Given the description of an element on the screen output the (x, y) to click on. 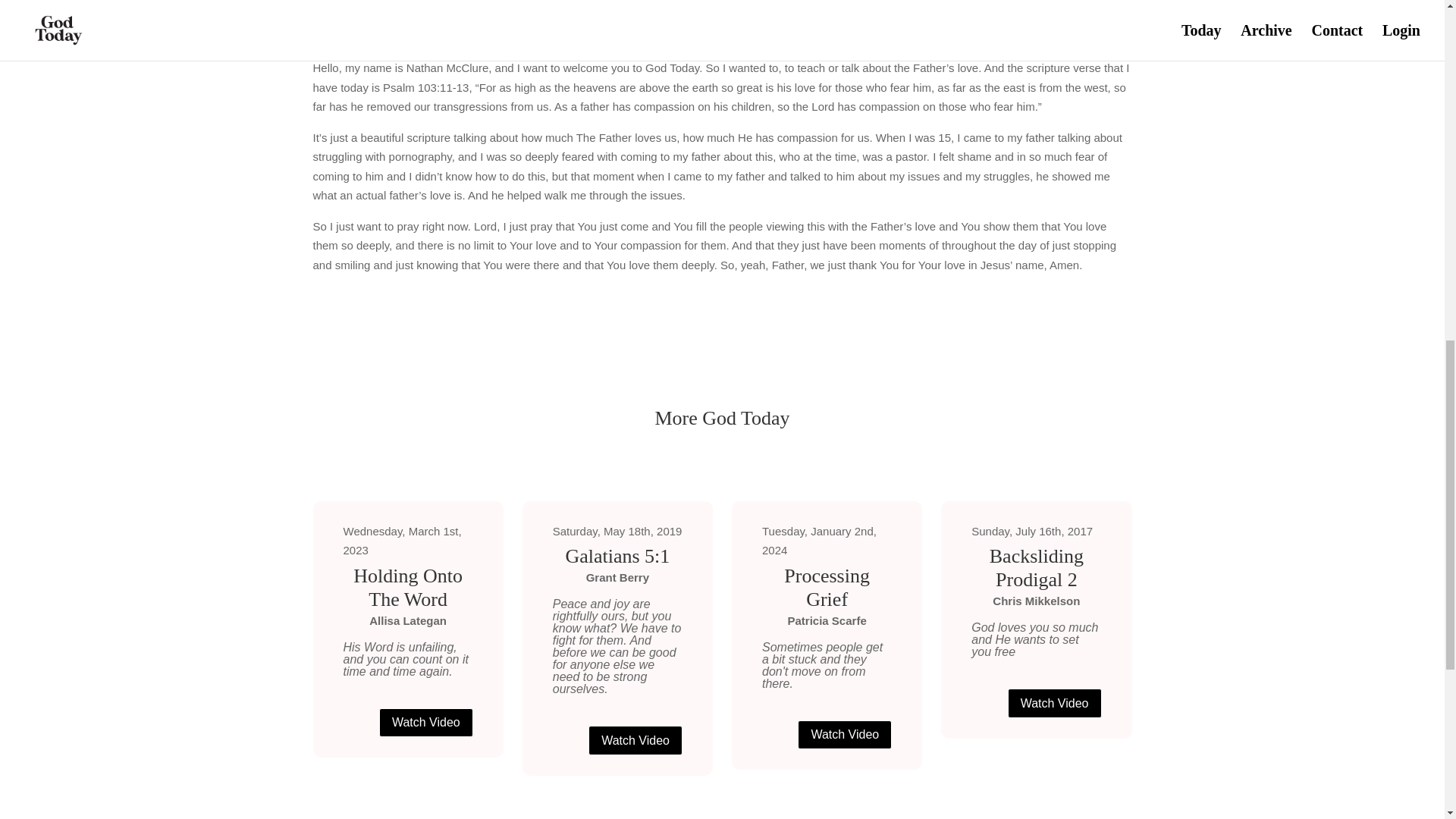
Processing Grief (826, 587)
Backsliding Prodigal 2 (1035, 567)
Watch Video (844, 735)
Galatians 5:1 (617, 556)
Holding Onto The Word (406, 587)
Watch Video (635, 740)
Watch Video (1054, 703)
Watch Video (425, 722)
